Given the description of an element on the screen output the (x, y) to click on. 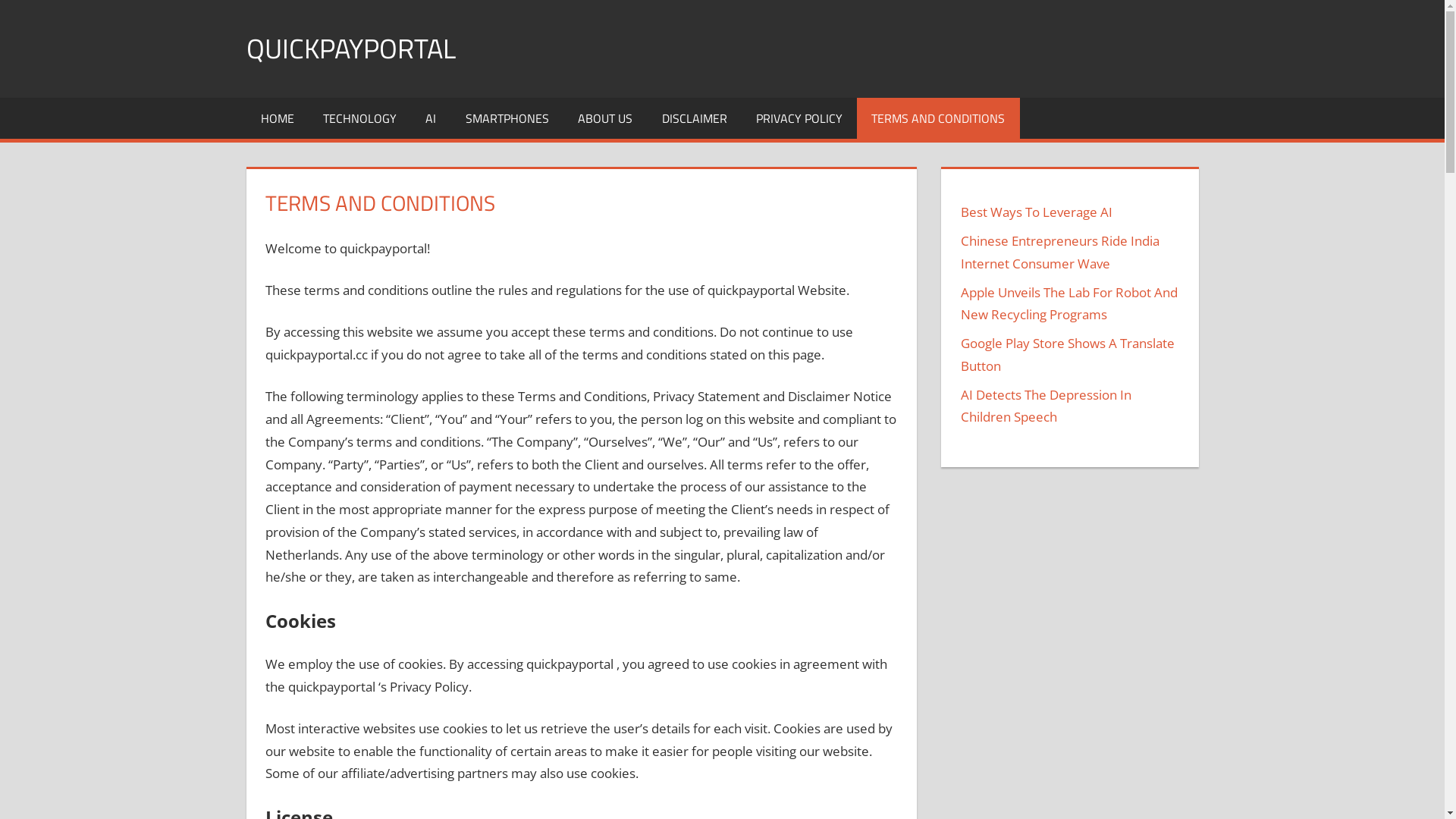
TECHNOLOGY Element type: text (359, 117)
AI Element type: text (430, 117)
PRIVACY POLICY Element type: text (798, 117)
HOME Element type: text (276, 117)
QUICKPAYPORTAL Element type: text (350, 48)
SMARTPHONES Element type: text (507, 117)
ABOUT US Element type: text (604, 117)
Best Ways To Leverage AI Element type: text (1036, 211)
Apple Unveils The Lab For Robot And New Recycling Programs Element type: text (1068, 303)
DISCLAIMER Element type: text (693, 117)
TERMS AND CONDITIONS Element type: text (937, 117)
AI Detects The Depression In Children Speech Element type: text (1045, 405)
Google Play Store Shows A Translate Button Element type: text (1067, 354)
Chinese Entrepreneurs Ride India Internet Consumer Wave Element type: text (1059, 252)
